Given the description of an element on the screen output the (x, y) to click on. 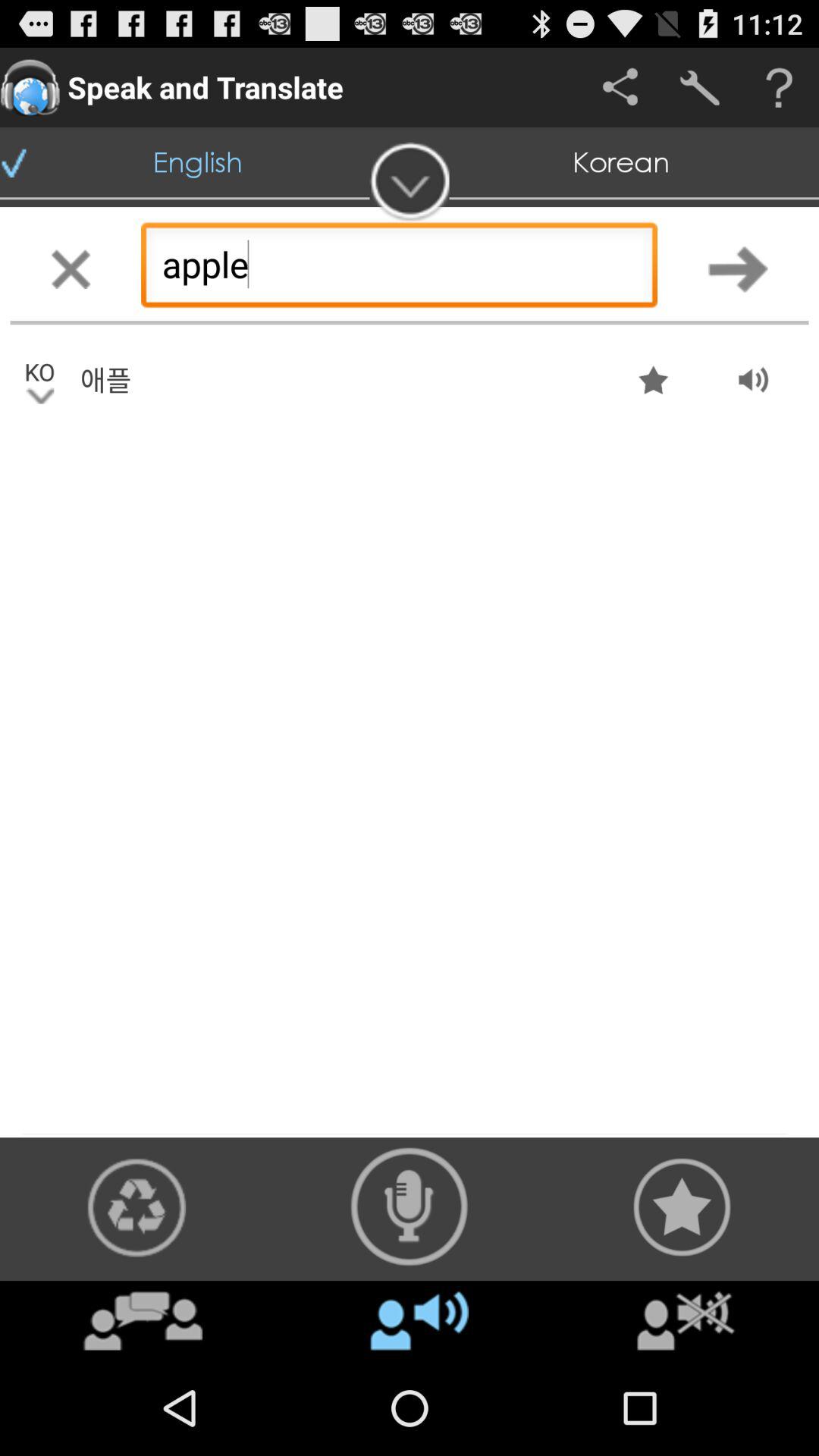
cencel the search term (70, 268)
